Given the description of an element on the screen output the (x, y) to click on. 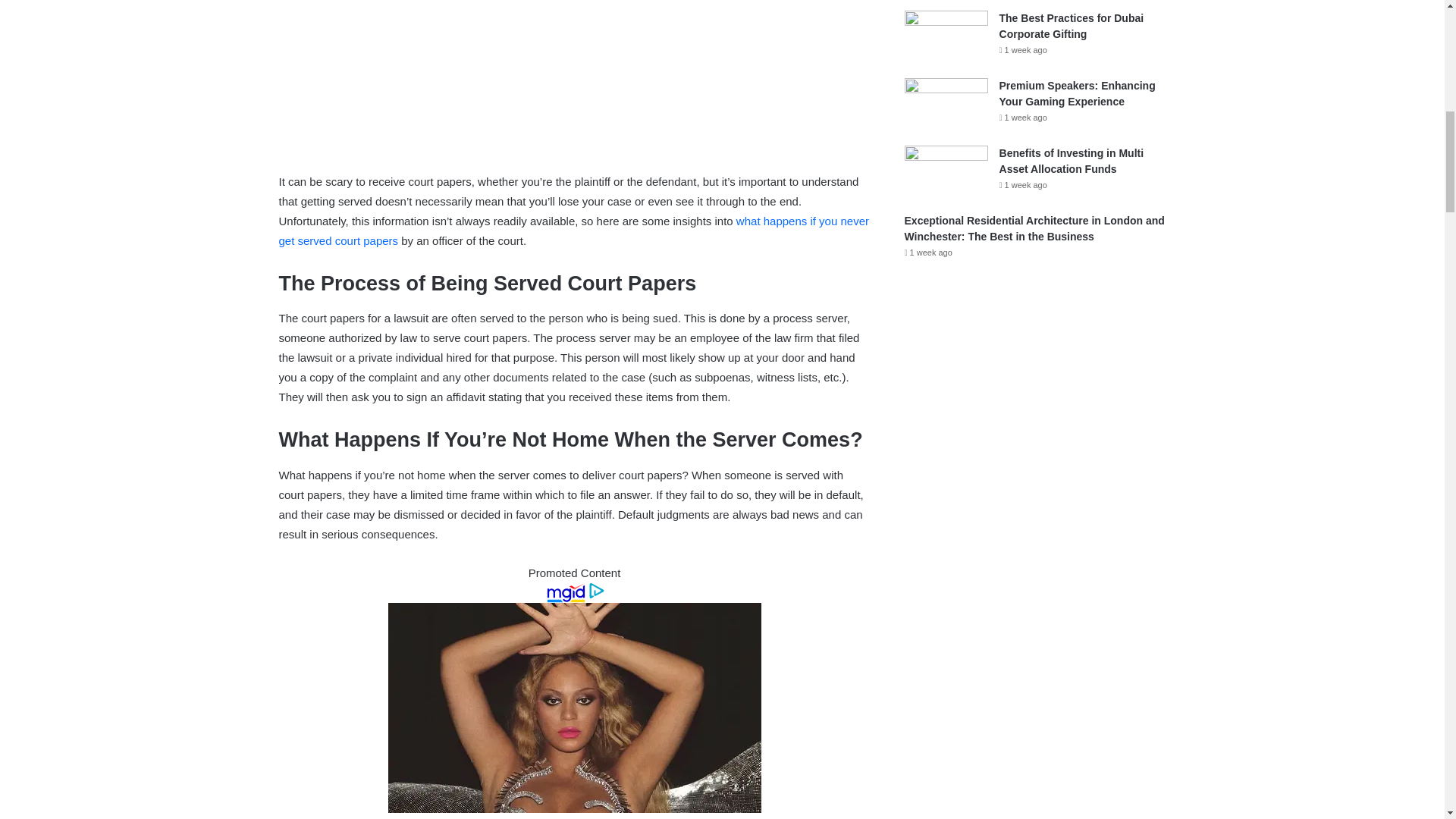
what happens if you never get served court papers (574, 230)
